Given the description of an element on the screen output the (x, y) to click on. 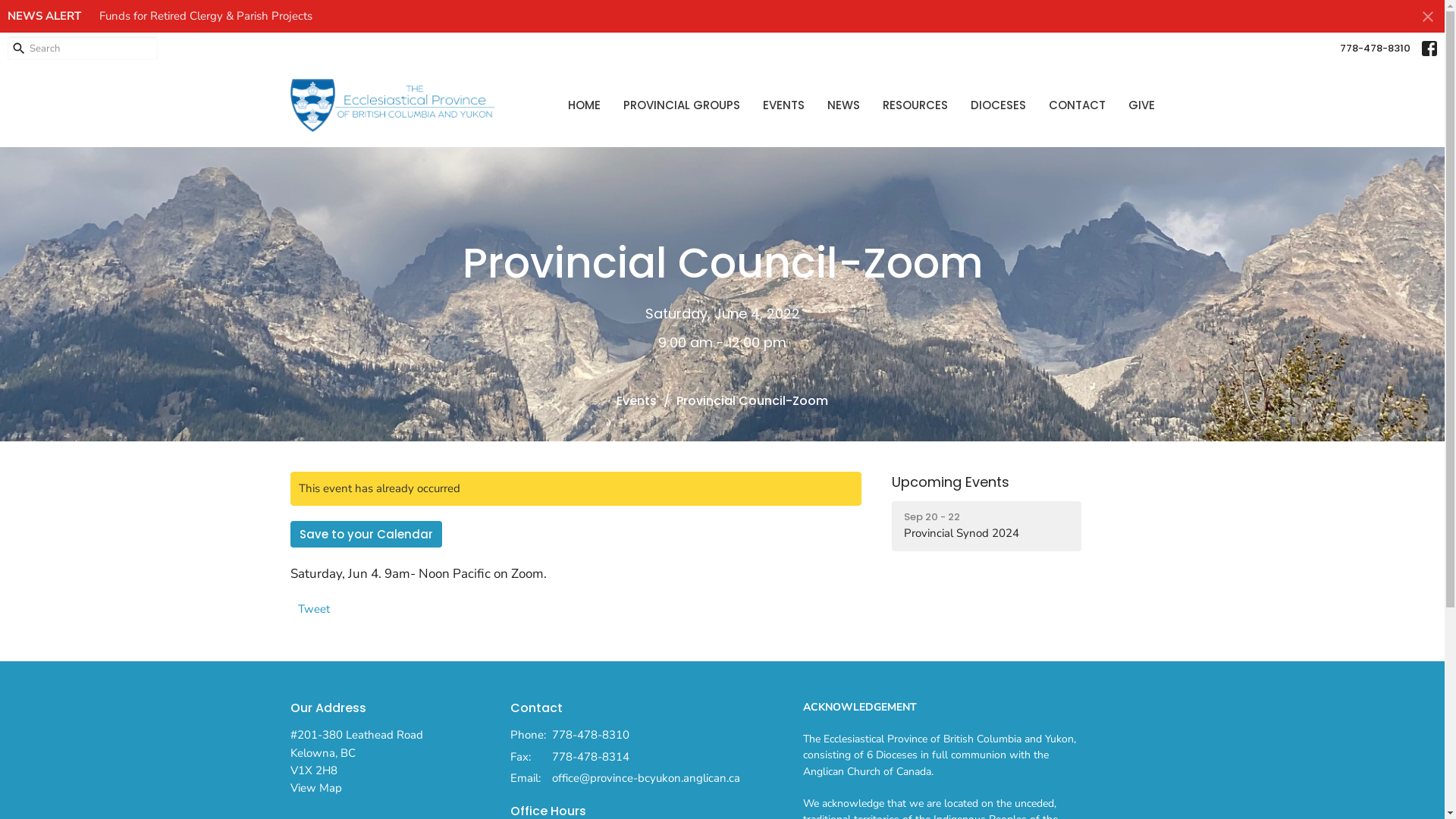
DIOCESES Element type: text (998, 104)
Upcoming Events Element type: text (950, 481)
GIVE Element type: text (1141, 104)
EVENTS Element type: text (783, 104)
778-478-8310 Element type: text (590, 734)
CONTACT Element type: text (1076, 104)
NEWS Element type: text (842, 104)
Save to your Calendar Element type: text (365, 533)
Sep 20 - 22
Provincial Synod 2024 Element type: text (986, 525)
View Map Element type: text (315, 787)
778-478-8310 Element type: text (1375, 48)
HOME Element type: text (583, 104)
Events Element type: text (636, 400)
Funds for Retired Clergy & Parish Projects Element type: text (205, 15)
office@province-bcyukon.anglican.ca Element type: text (646, 778)
PROVINCIAL GROUPS Element type: text (681, 104)
RESOURCES Element type: text (914, 104)
Tweet Element type: text (313, 608)
